Given the description of an element on the screen output the (x, y) to click on. 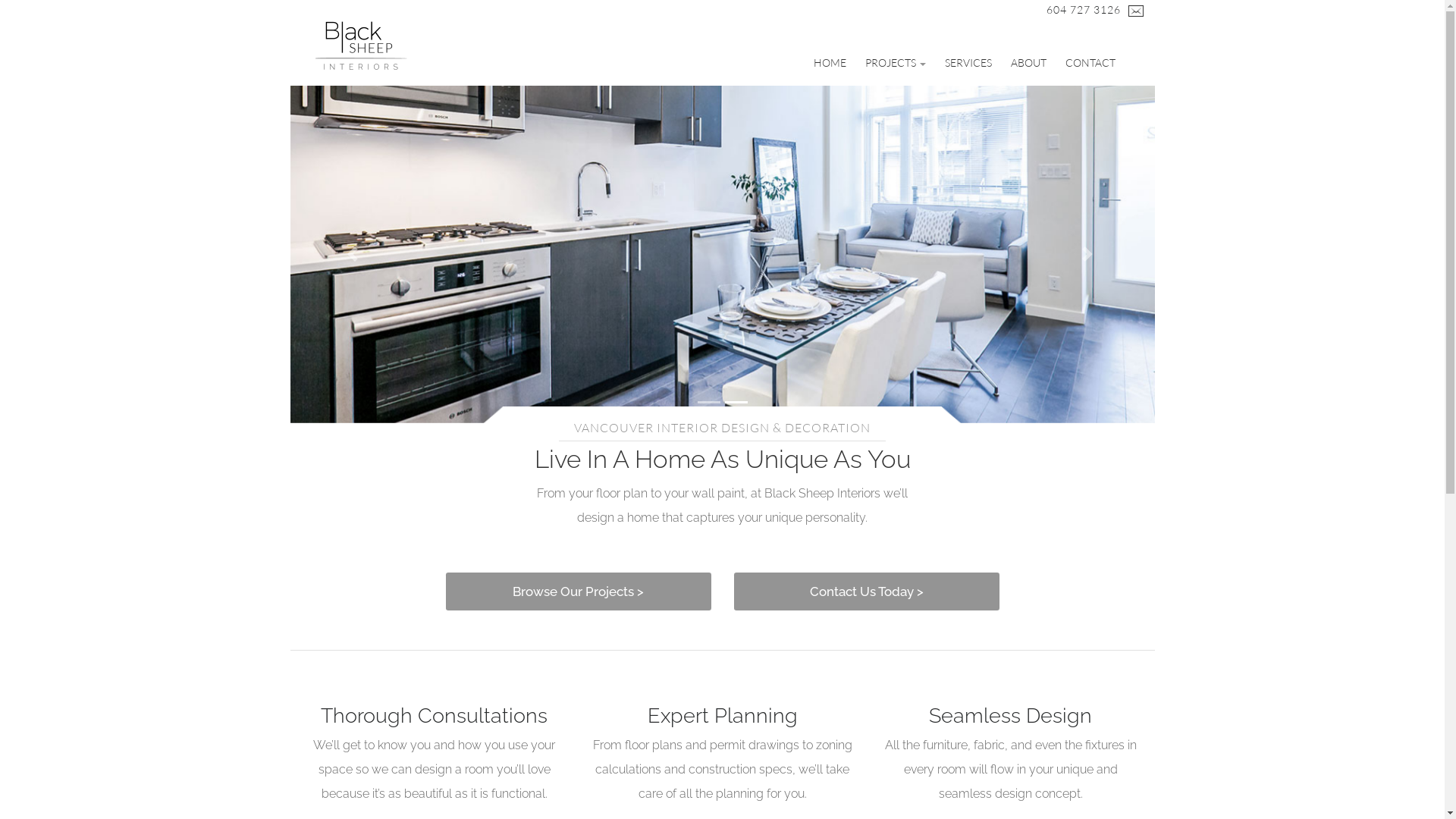
Previous Element type: text (354, 254)
SERVICES Element type: text (967, 62)
CONTACT Element type: text (1090, 62)
ABOUT Element type: text (1028, 62)
HOME Element type: text (829, 62)
Contact Us Today > Element type: text (866, 591)
Next Element type: text (1089, 254)
Browse Our Projects > Element type: text (578, 591)
PROJECTS Element type: text (894, 62)
